Given the description of an element on the screen output the (x, y) to click on. 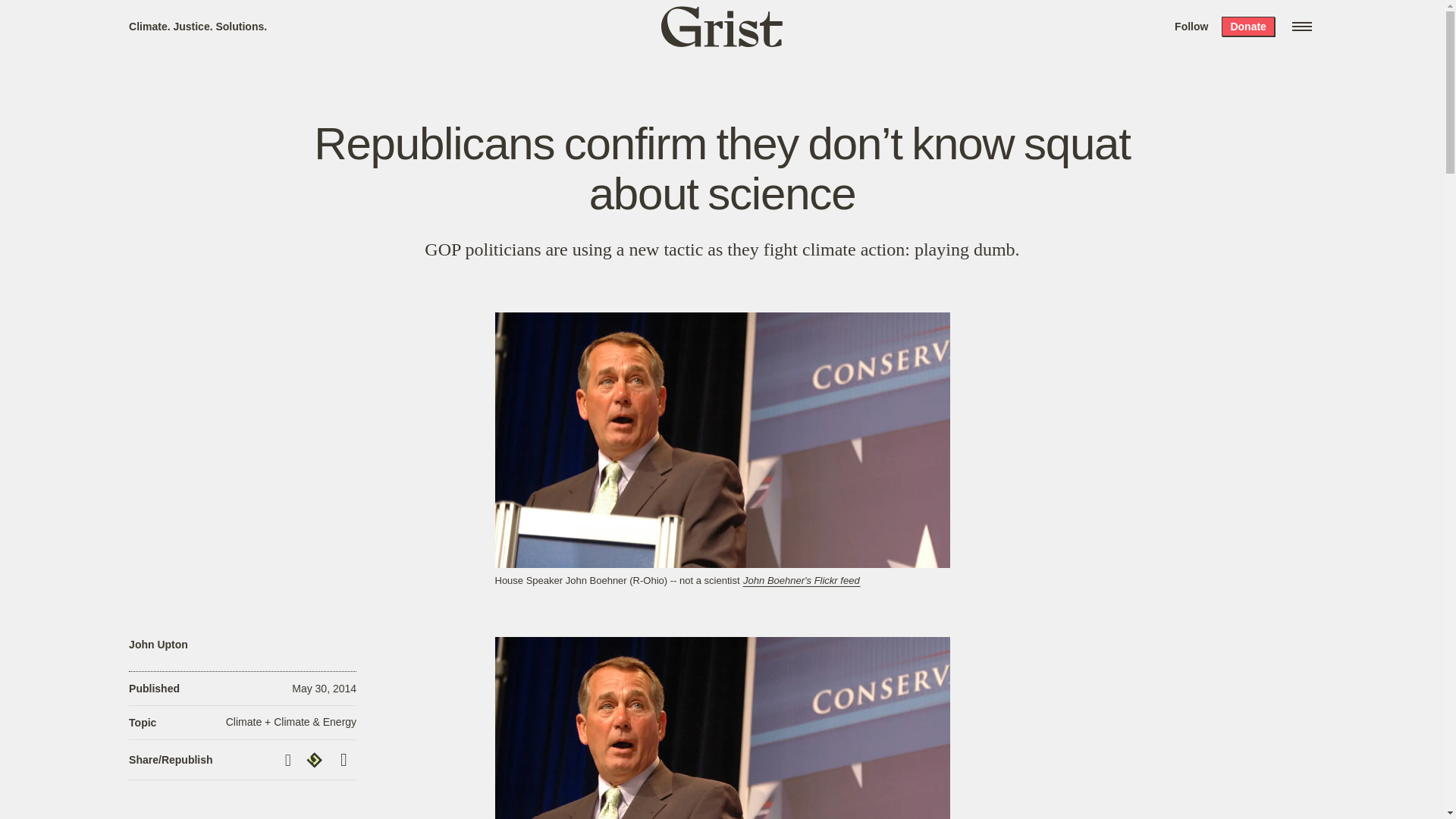
Grist home (722, 25)
Follow (1191, 26)
Search (227, 18)
Donate (1247, 26)
Republish the article (316, 759)
John Boehner's Flickr feed (801, 580)
Copy article link (289, 760)
